Given the description of an element on the screen output the (x, y) to click on. 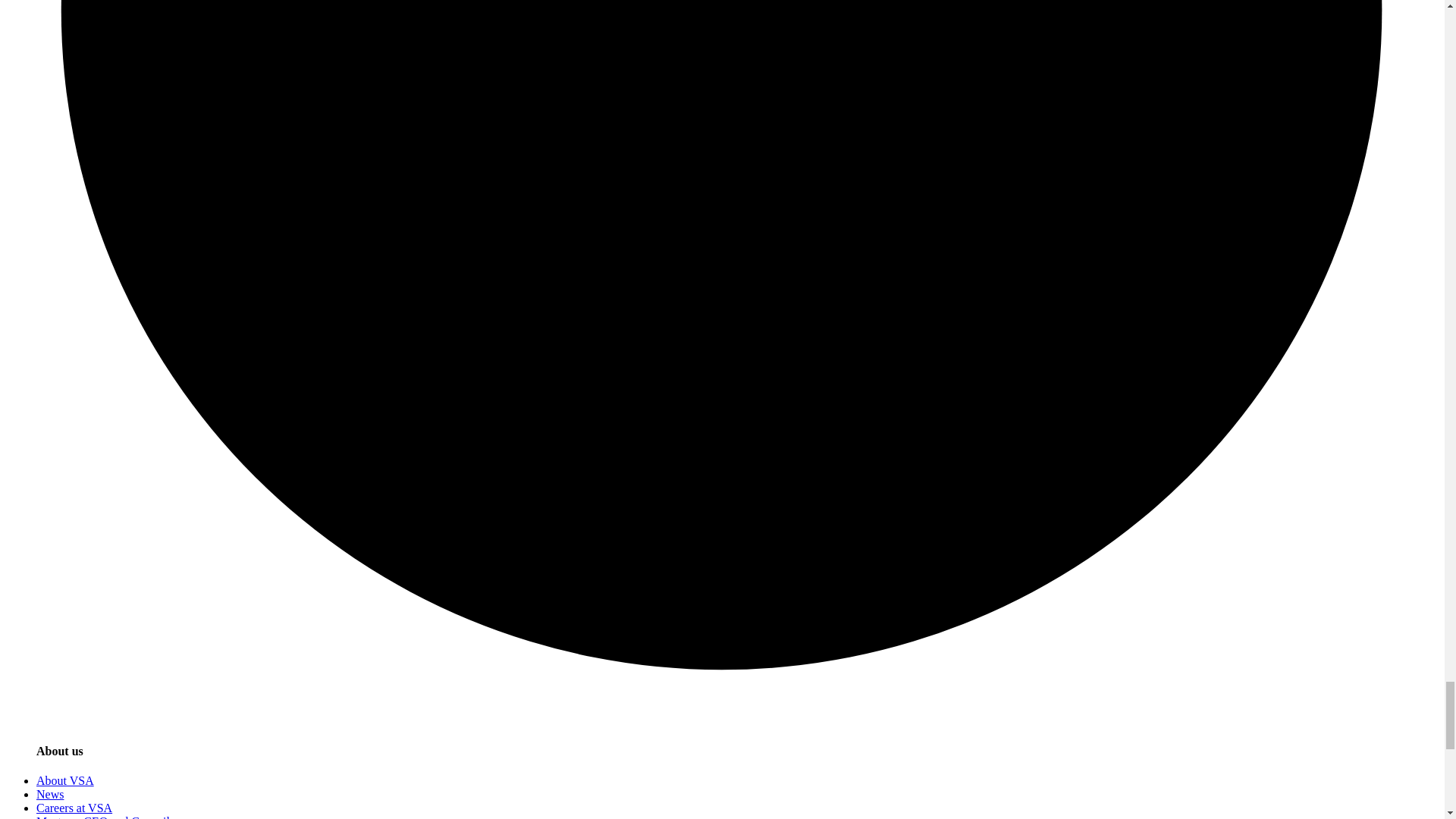
About VSA (65, 780)
Meet our CEO and Council (103, 816)
News (50, 793)
About VSA (65, 780)
Meet VSA's CEO and Council members (103, 816)
Careers at VSA (74, 807)
News (50, 793)
Careers at VSA (74, 807)
